Given the description of an element on the screen output the (x, y) to click on. 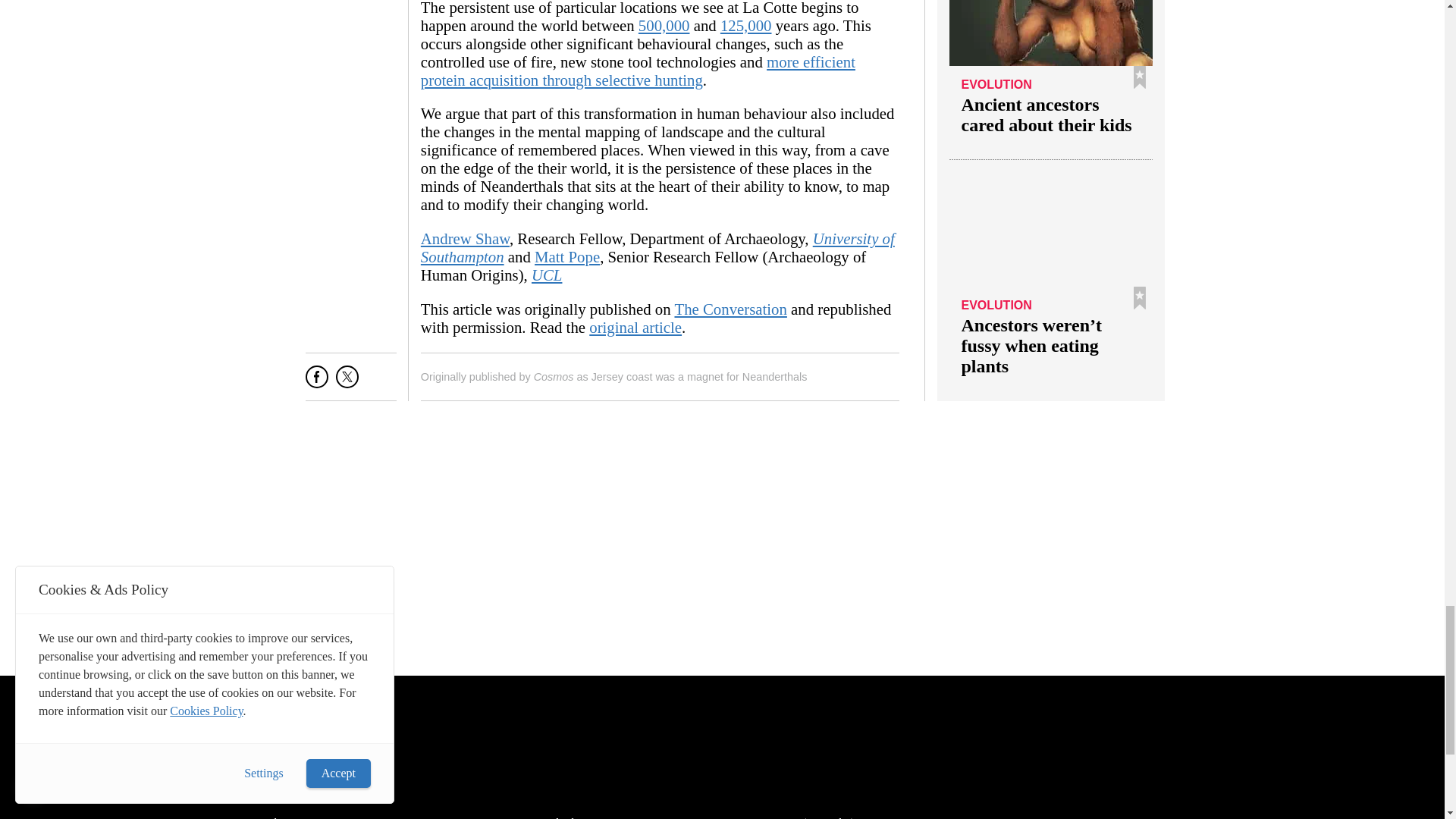
Jersey coast was a magnet for Neanderthals (699, 377)
500,000 (664, 25)
Tweet (347, 382)
Share on Facebook (317, 382)
